Given the description of an element on the screen output the (x, y) to click on. 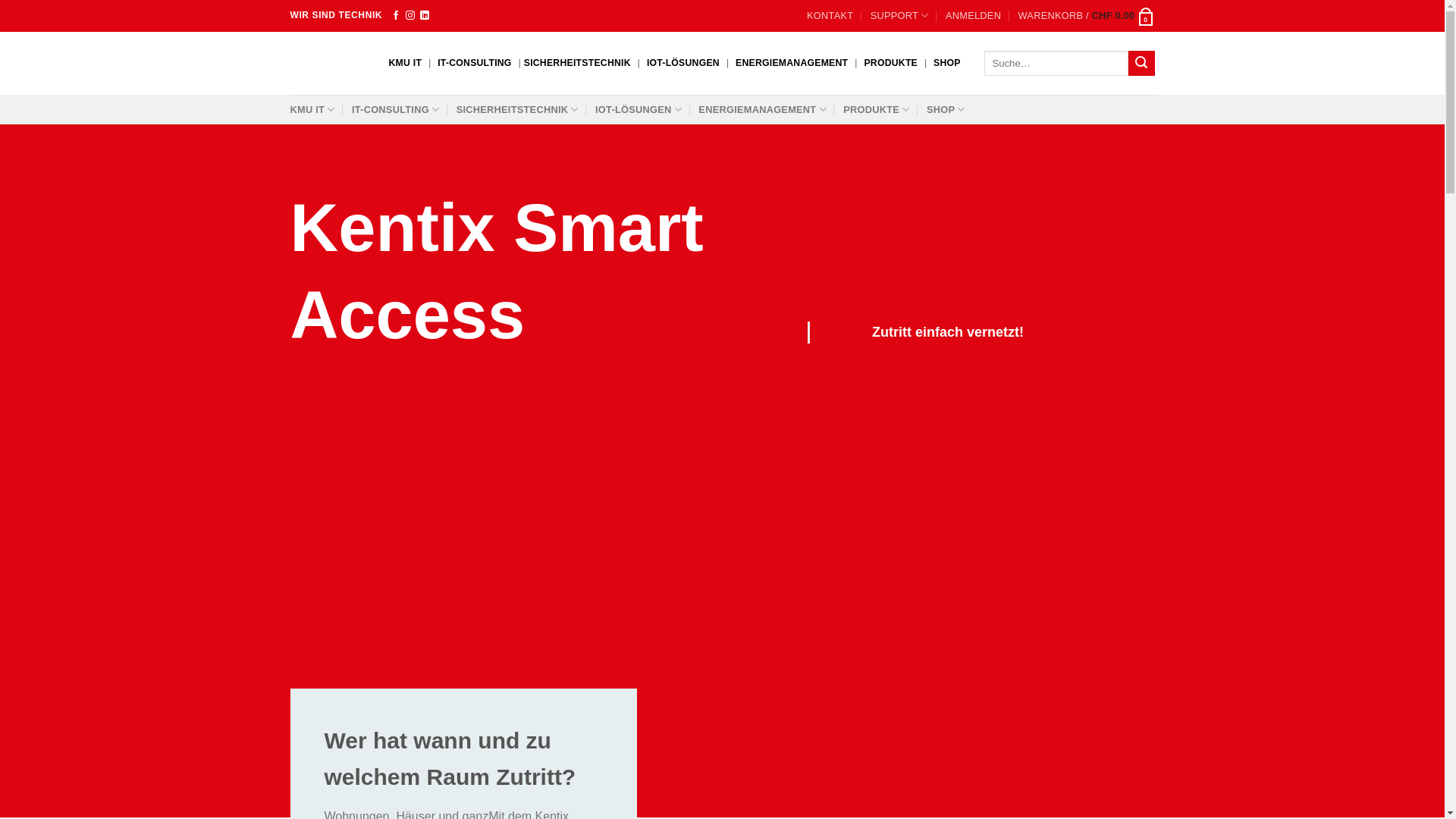
SUPPORT Element type: text (899, 15)
Auf Linkedin folgen Element type: hover (424, 15)
IT-CONSULTING Element type: text (474, 63)
KONTAKT Element type: text (829, 15)
Auf Facebook folgen Element type: hover (395, 15)
PRODUKTE Element type: text (890, 63)
KMU IT Element type: text (311, 109)
PRODUKTE Element type: text (876, 109)
SICHERHEITSTECHNIK Element type: text (577, 63)
Auf Instagram folgen Element type: hover (409, 15)
SHOP Element type: text (945, 109)
ENERGIEMANAGEMENT Element type: text (791, 63)
ANMELDEN Element type: text (973, 15)
KMU IT Element type: text (404, 63)
SHOP Element type: text (946, 63)
Suche Element type: text (1141, 63)
WARENKORB / CHF 0.00
0 Element type: text (1085, 15)
SICHERHEITSTECHNIK Element type: text (517, 109)
ENERGIEMANAGEMENT Element type: text (762, 109)
IT-CONSULTING Element type: text (395, 109)
